Given the description of an element on the screen output the (x, y) to click on. 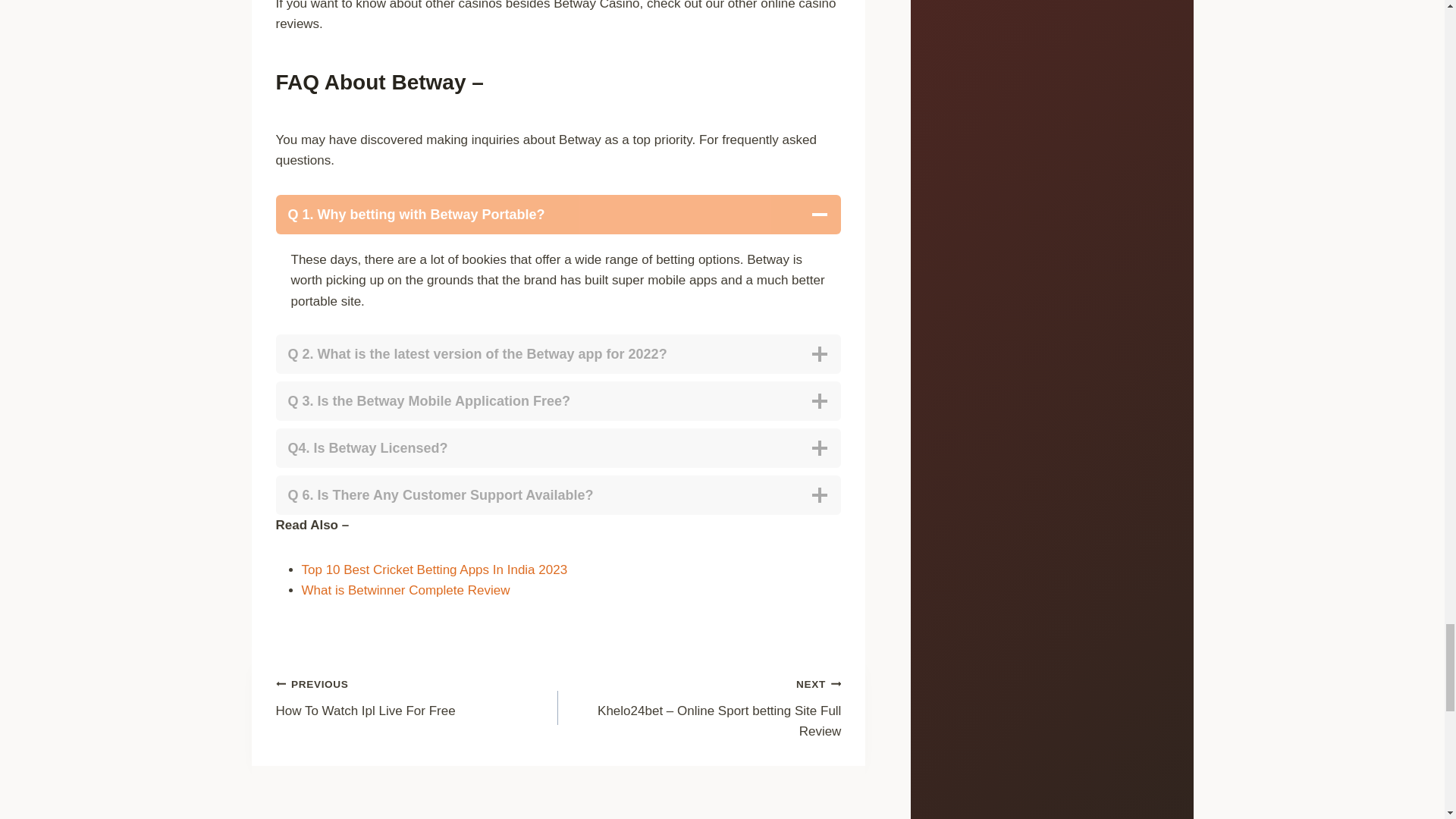
Q 1. Why betting with Betway Portable? (558, 214)
Q 3. Is the Betway Mobile Application Free? (417, 697)
Q 2. What is the latest version of the Betway app for 2022? (558, 400)
Q 6. Is There Any Customer Support Available? (558, 353)
What is Betwinner Complete Review (558, 495)
Q4. Is Betway Licensed? (406, 590)
Top 10 Best Cricket Betting Apps In India 2023 (558, 447)
